Given the description of an element on the screen output the (x, y) to click on. 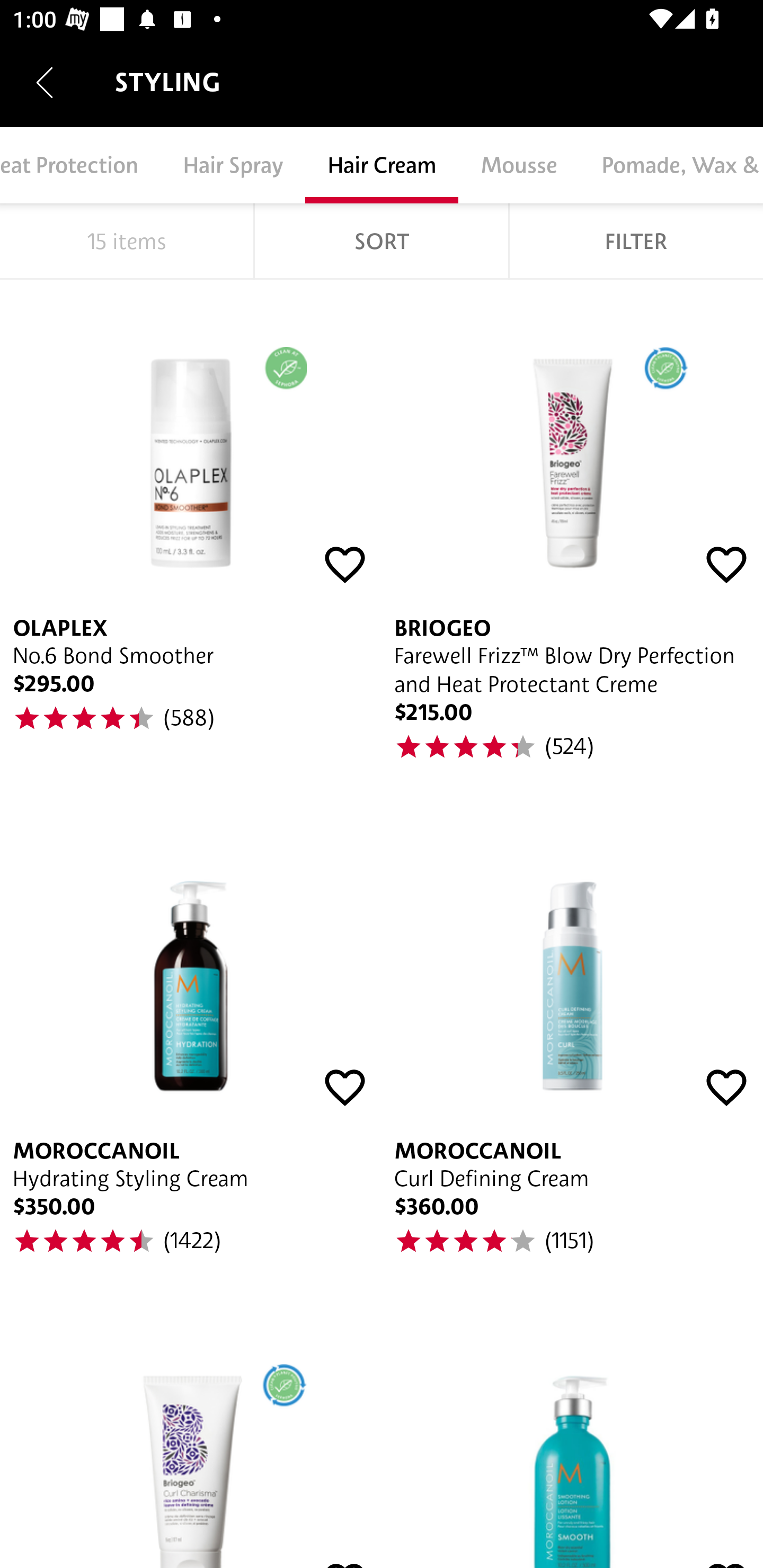
Navigate up (44, 82)
Heat Protection (80, 165)
Hair Spray (232, 165)
Mousse (518, 165)
Pomade, Wax & Gel (671, 165)
SORT (381, 241)
FILTER (636, 241)
OLAPLEX No.6 Bond Smoother $295.00 44.0 (588) (190, 540)
